Given the description of an element on the screen output the (x, y) to click on. 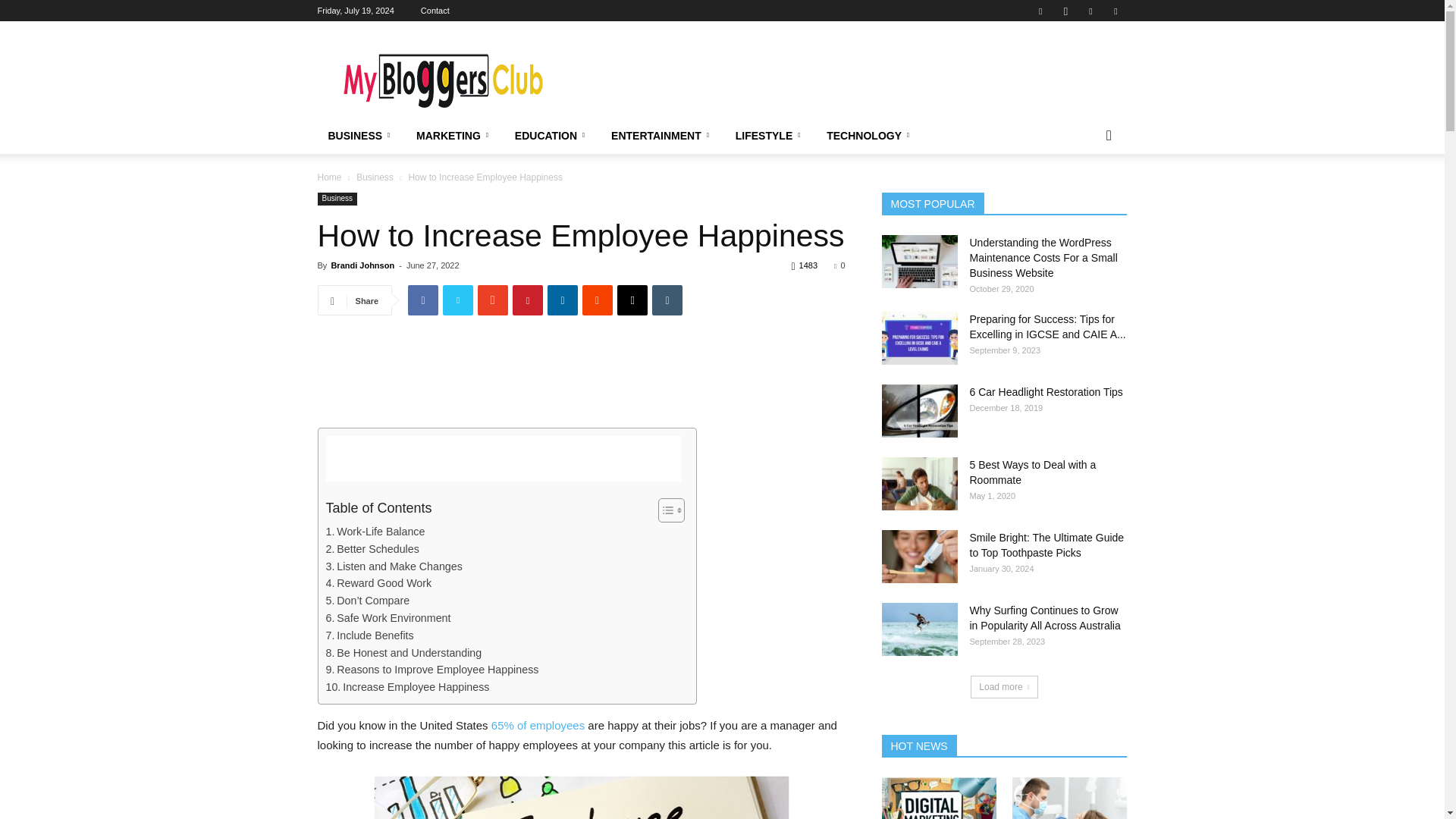
MyBloggerClub.com Logo (445, 76)
Instagram (1065, 10)
Advertisement (503, 458)
Twitter (1114, 10)
Advertisement (580, 377)
Work-Life Balance (375, 531)
Pinterest (1090, 10)
Facebook (1040, 10)
View all posts in Business (374, 176)
Advertisement (850, 76)
